Given the description of an element on the screen output the (x, y) to click on. 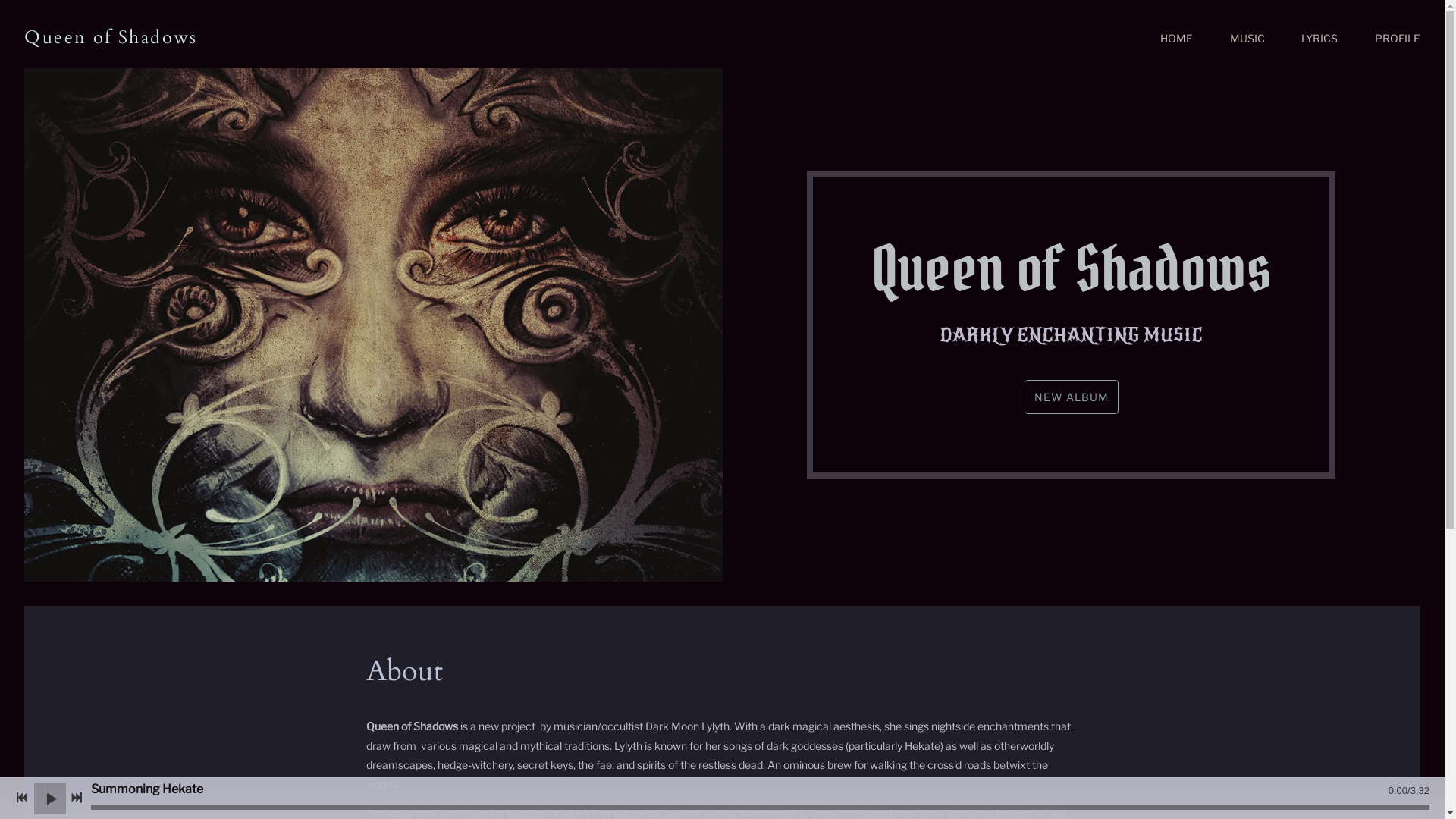
Next track Element type: hover (76, 797)
MUSIC Element type: text (1247, 38)
HOME Element type: text (1176, 38)
NEW ALBUM Element type: text (1071, 396)
PROFILE Element type: text (1397, 38)
Previous track Element type: hover (21, 797)
Queen of Shadows Element type: text (110, 37)
Play Element type: hover (49, 797)
LYRICS Element type: text (1319, 38)
